Given the description of an element on the screen output the (x, y) to click on. 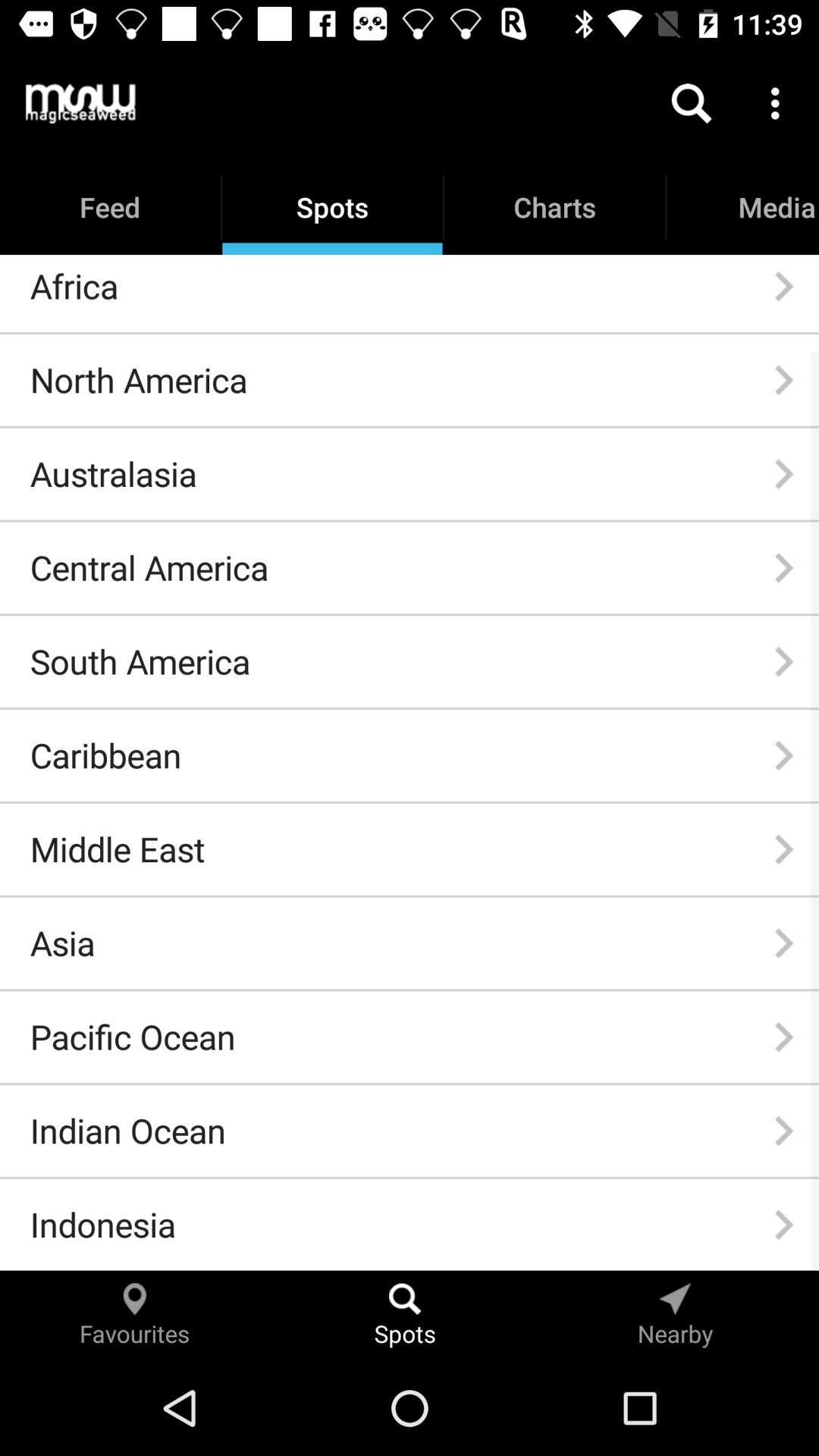
choose item below the south america item (105, 755)
